Given the description of an element on the screen output the (x, y) to click on. 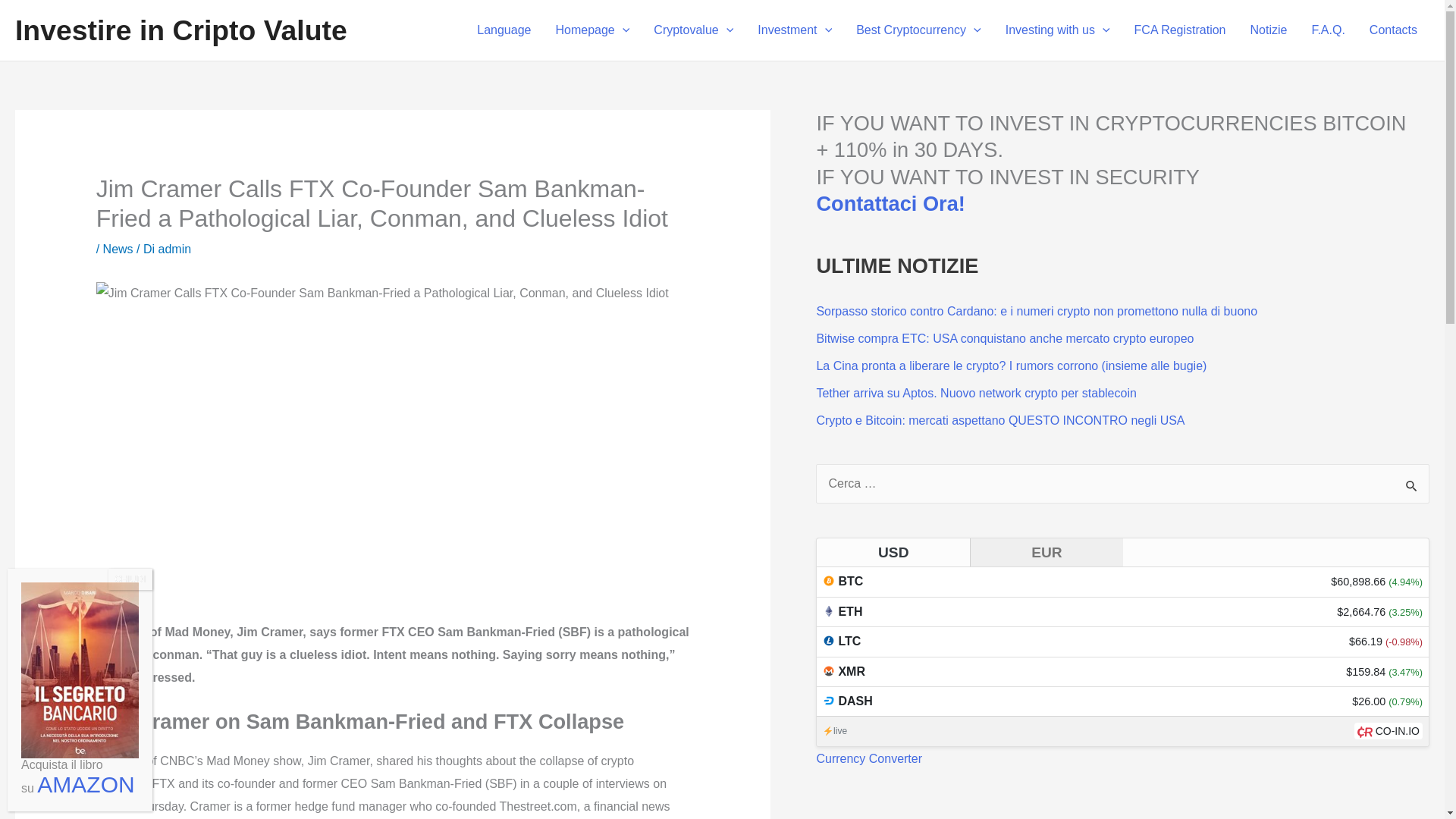
Investing with us (1057, 30)
Language (503, 30)
F.A.Q. (1327, 30)
Contacts (1392, 30)
Notizie (1267, 30)
Investment (794, 30)
Cryptovalue (693, 30)
FCA Registration (1180, 30)
Visualizza tutti gli articoli di admin (175, 248)
Best Cryptocurrency (918, 30)
